Given the description of an element on the screen output the (x, y) to click on. 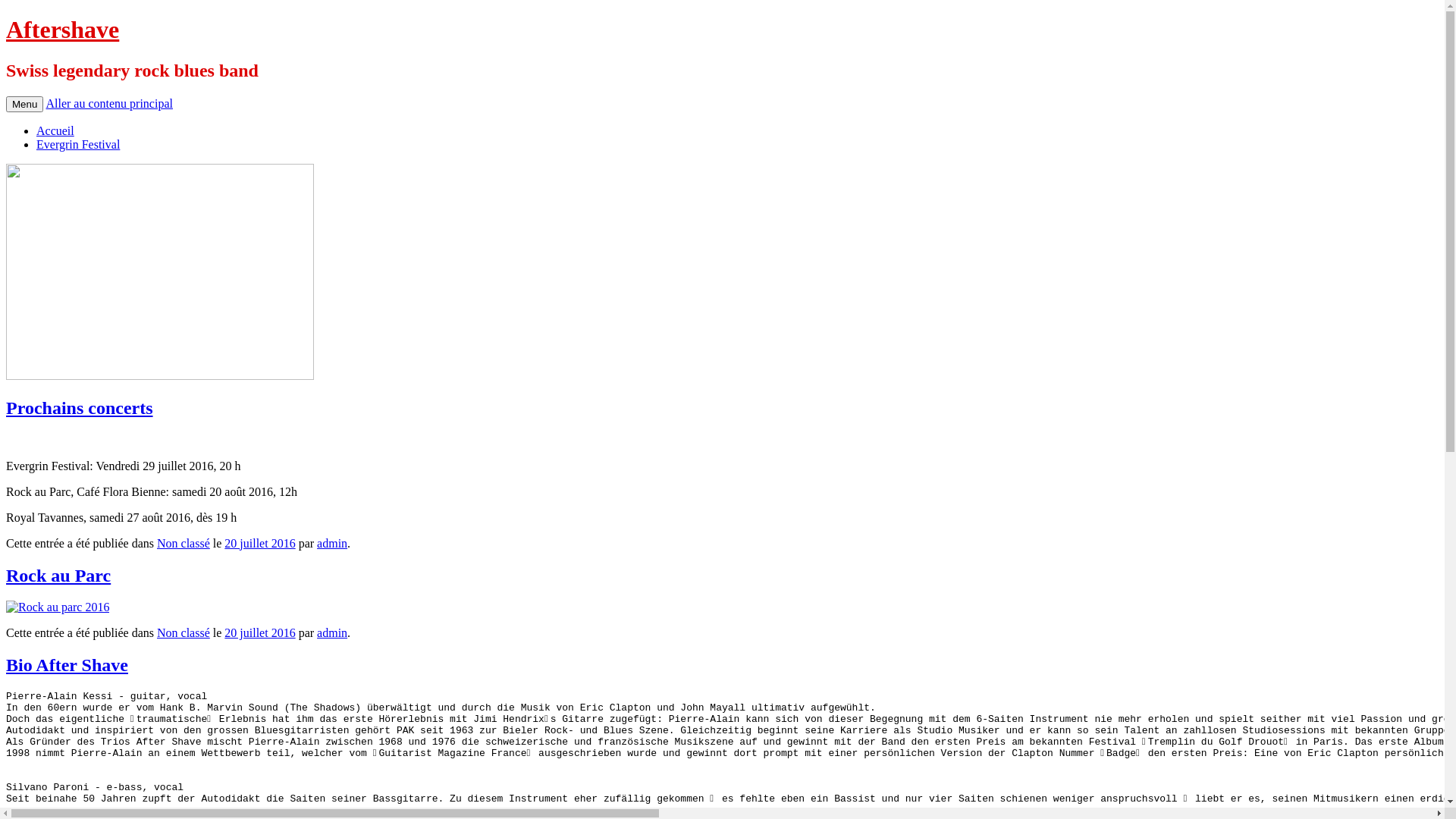
Rock au Parc Element type: text (58, 575)
20 juillet 2016 Element type: text (259, 632)
20 juillet 2016 Element type: text (259, 542)
admin Element type: text (331, 542)
Aftershave Element type: text (62, 29)
Accueil Element type: text (55, 130)
admin Element type: text (331, 632)
Bio After Shave Element type: text (67, 664)
Prochains concerts Element type: text (79, 407)
Menu Element type: text (24, 104)
Evergrin Festival Element type: text (77, 144)
Aller au contenu principal Element type: text (108, 103)
